Given the description of an element on the screen output the (x, y) to click on. 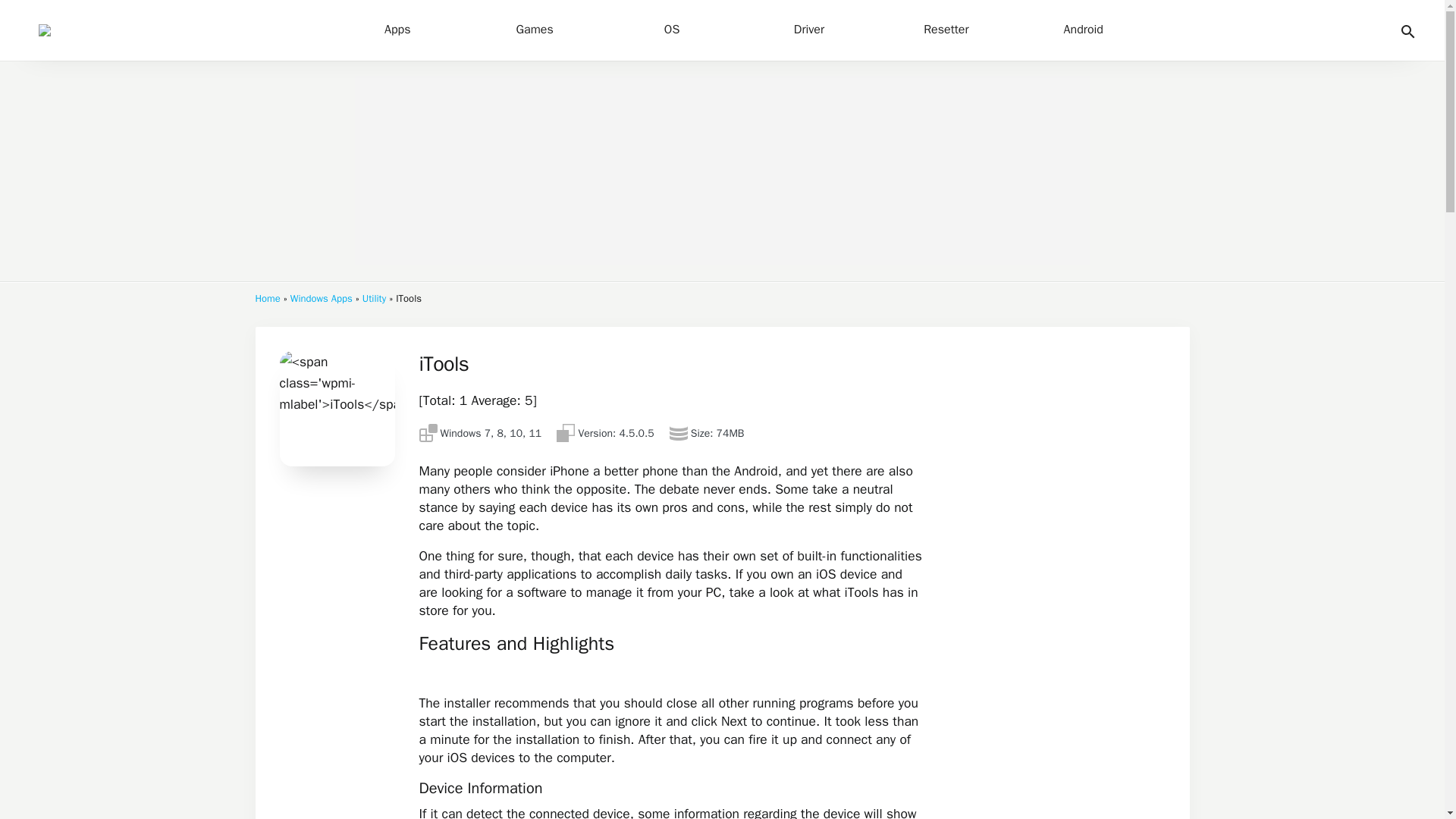
Resetter (945, 30)
Games (534, 30)
Apps (397, 30)
anturis.com (167, 30)
OS (672, 30)
Android (1082, 30)
Anturis (167, 30)
Driver (809, 30)
